Given the description of an element on the screen output the (x, y) to click on. 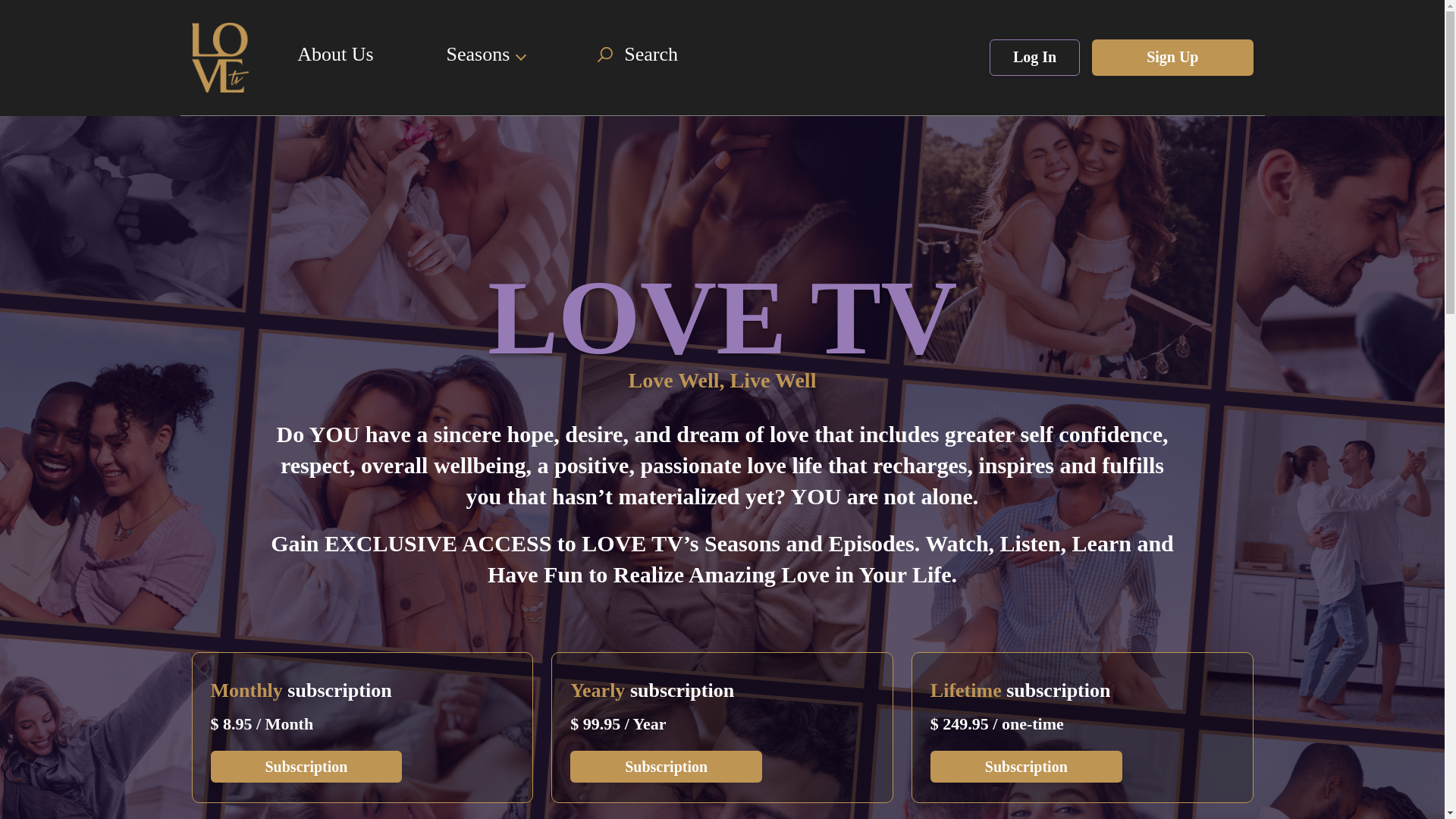
Subscription (1026, 766)
Subscription (307, 766)
Log In (1035, 57)
Love TV (236, 56)
Subscription (307, 766)
Search (637, 53)
Subscription (665, 766)
About Us (334, 54)
Sign Up (1172, 57)
Subscription (665, 766)
Seasons (485, 54)
Subscription (1026, 766)
